Given the description of an element on the screen output the (x, y) to click on. 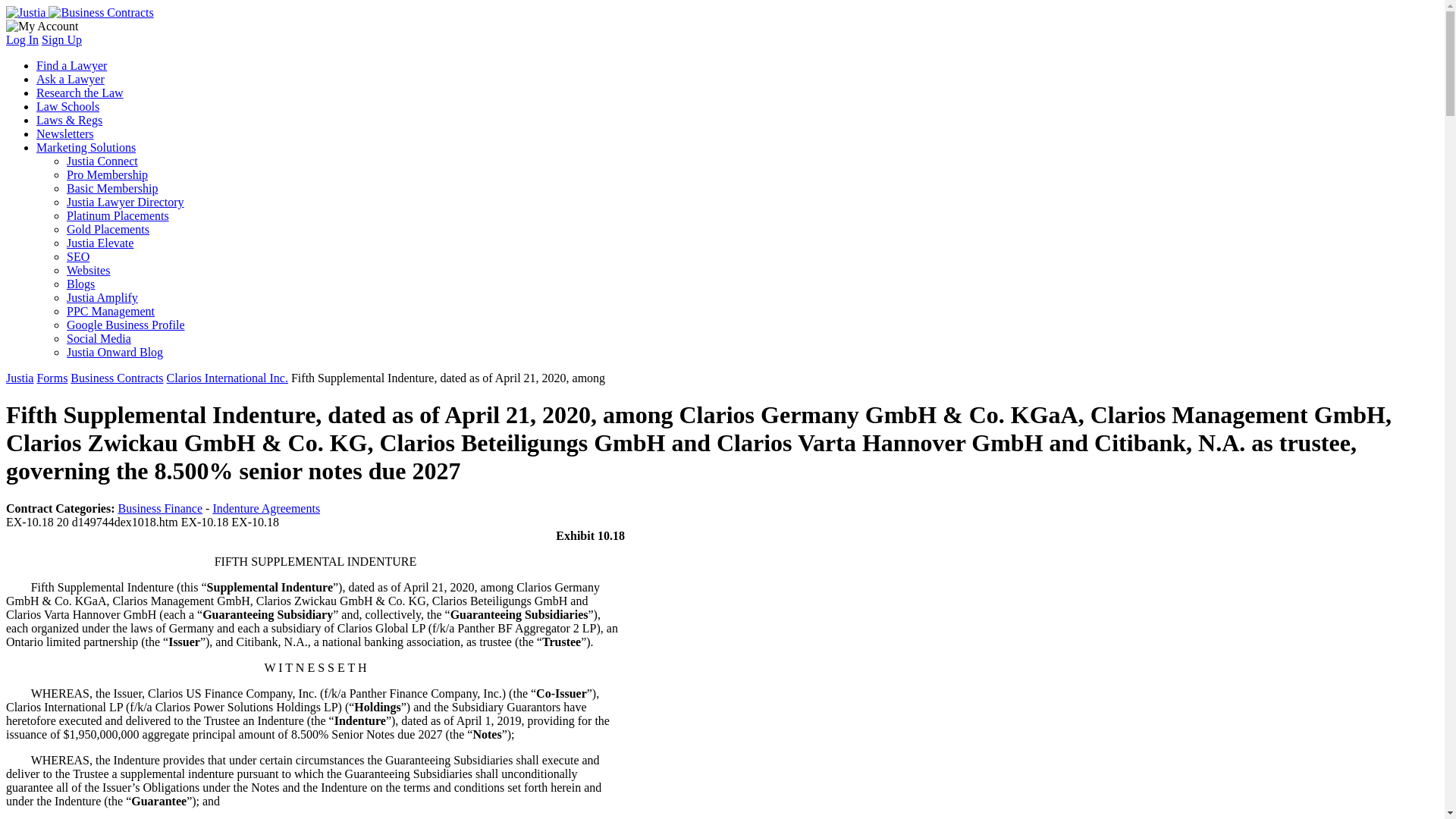
Log In (22, 39)
Pro Membership (107, 174)
Justia Connect (102, 160)
Justia Elevate (99, 242)
Ask a Lawyer (70, 78)
Marketing Solutions (85, 146)
Law Schools (67, 106)
Gold Placements (107, 228)
Indenture Agreements (266, 508)
Basic Membership (111, 187)
PPC Management (110, 310)
Justia (79, 11)
SEO (77, 256)
Social Media (98, 338)
Find a Lawyer (71, 65)
